Given the description of an element on the screen output the (x, y) to click on. 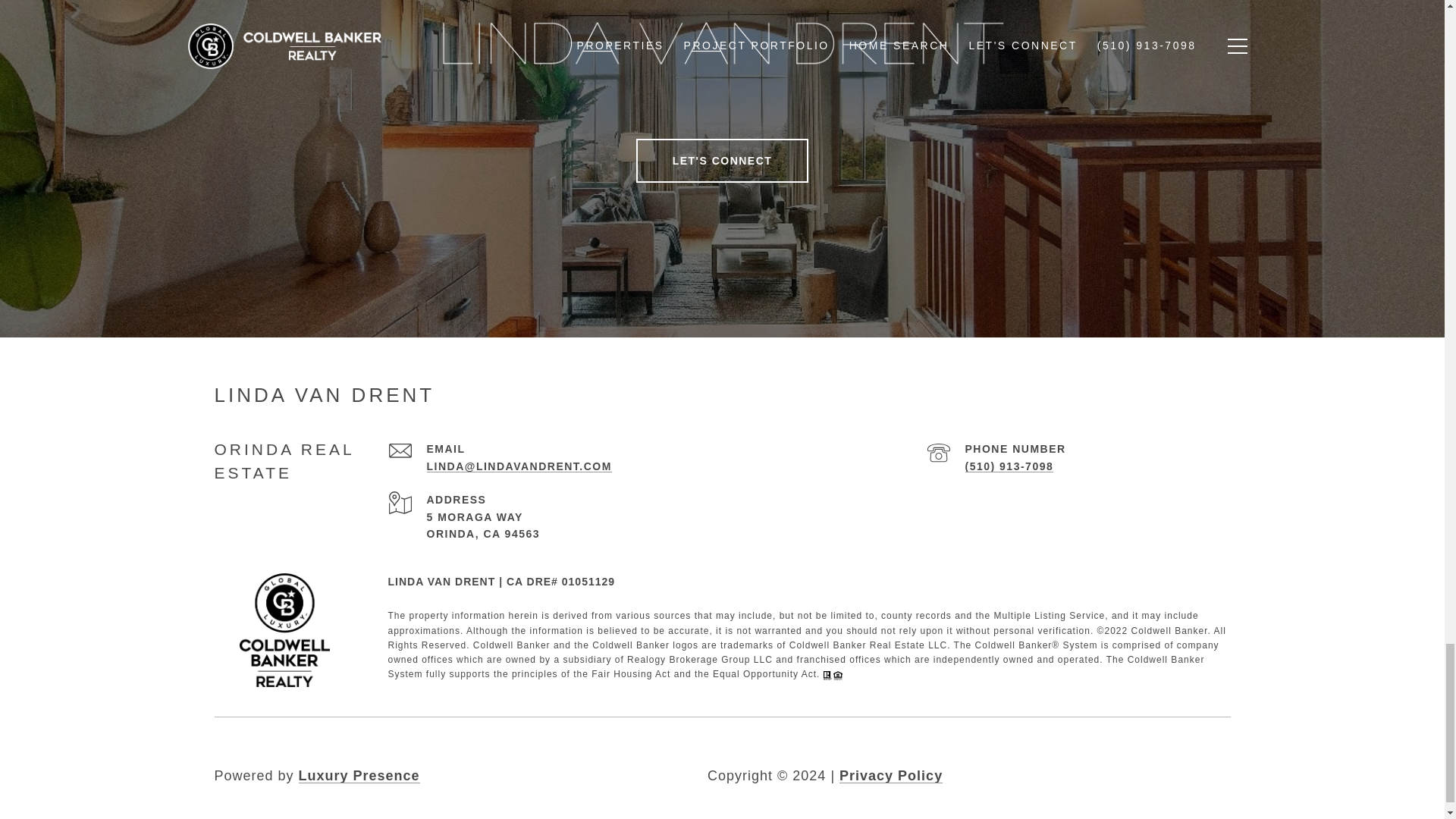
Luxury Presence (359, 774)
Privacy Policy (891, 774)
LET'S CONNECT (722, 160)
